Given the description of an element on the screen output the (x, y) to click on. 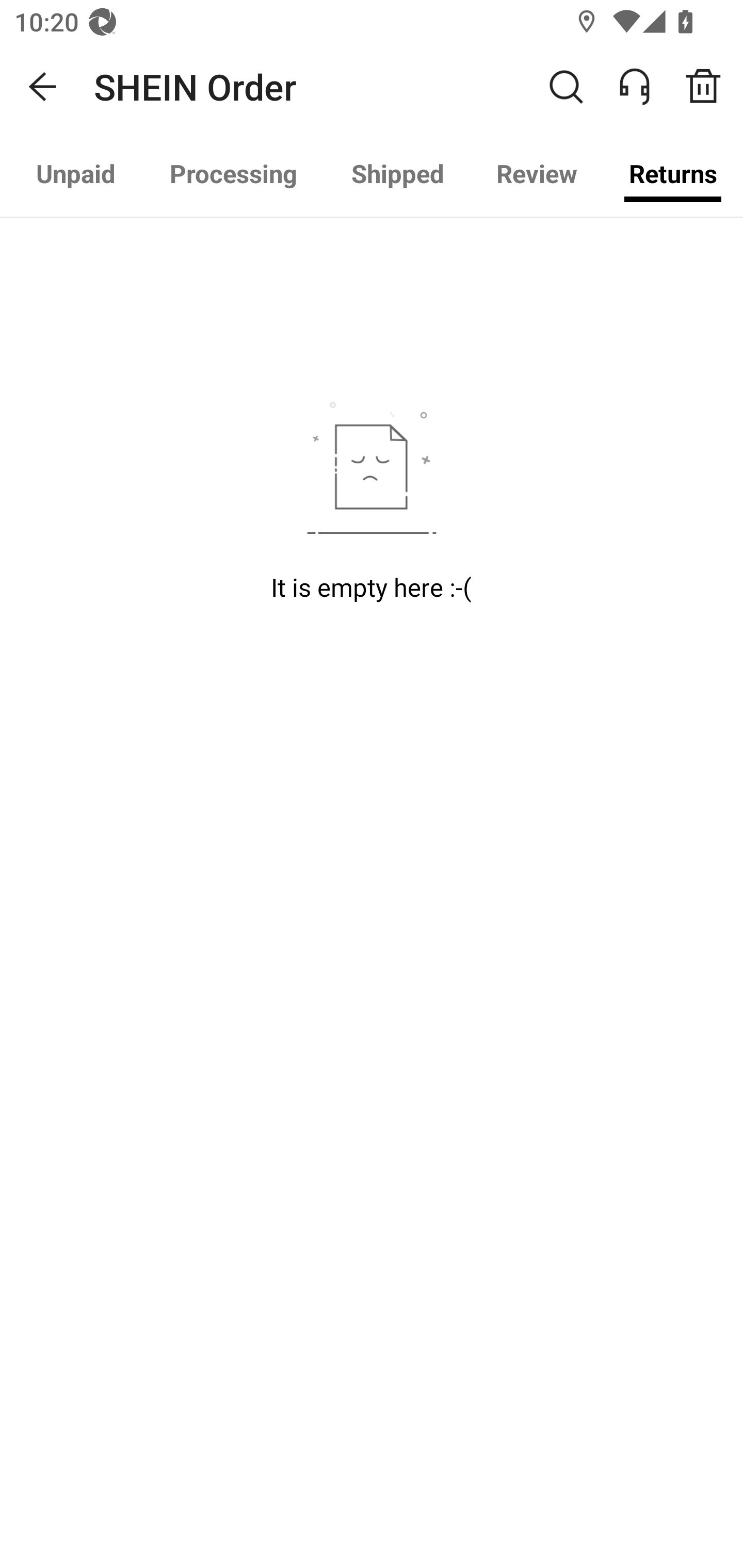
Navigate up (43, 86)
Search (565, 86)
ONLINE SERVICE (644, 86)
Order Recycle Bin (710, 86)
Unpaid (76, 173)
Processing (233, 173)
Shipped (397, 173)
Review (536, 173)
Returns (672, 173)
